Given the description of an element on the screen output the (x, y) to click on. 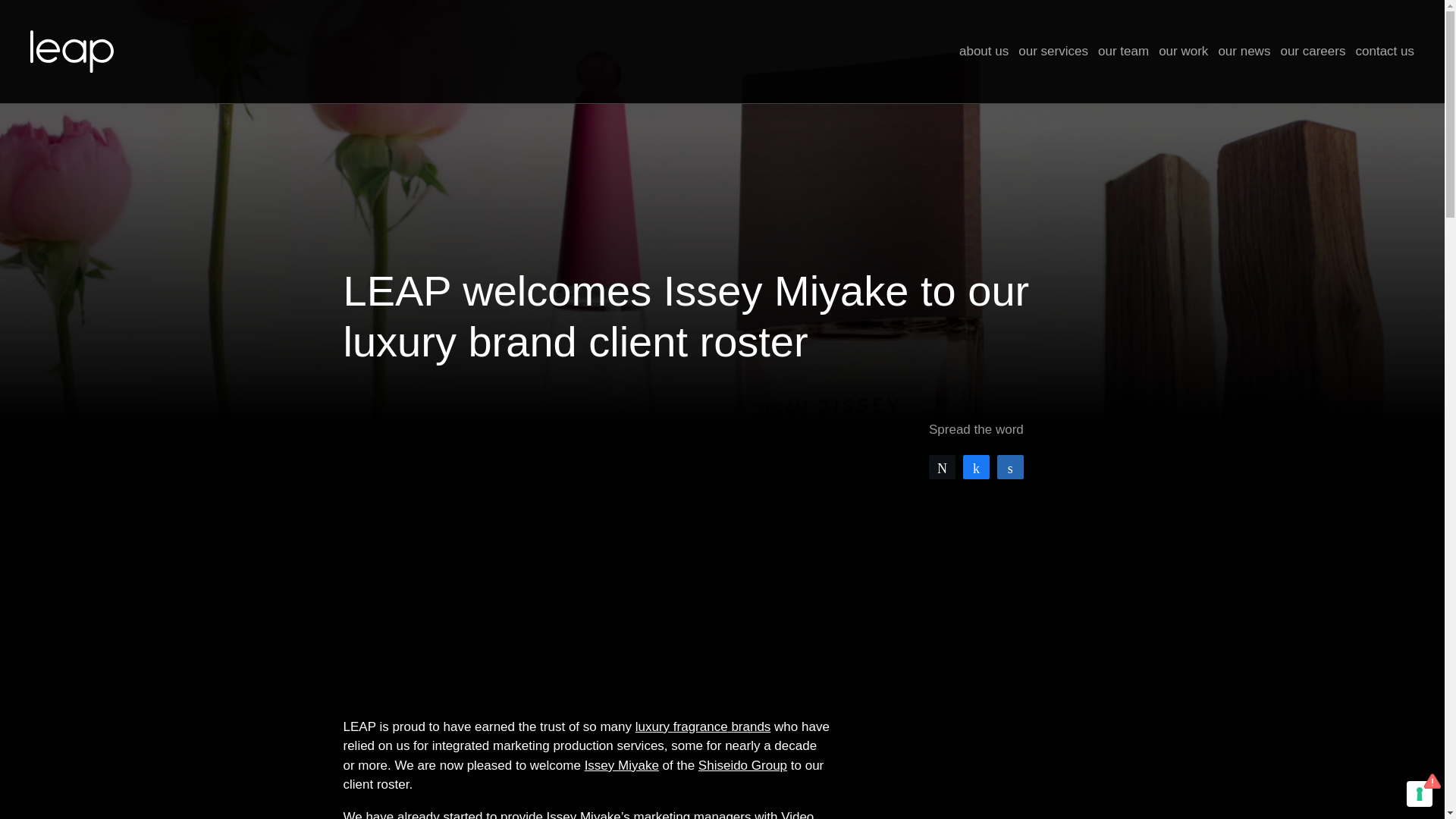
our news (1243, 51)
Shiseido Group (742, 765)
our team (1122, 51)
luxury fragrance brands (702, 726)
about us (984, 51)
contact us (1385, 51)
Issey Miyake (622, 765)
our careers (1312, 51)
our services (1052, 51)
our work (1183, 51)
